Given the description of an element on the screen output the (x, y) to click on. 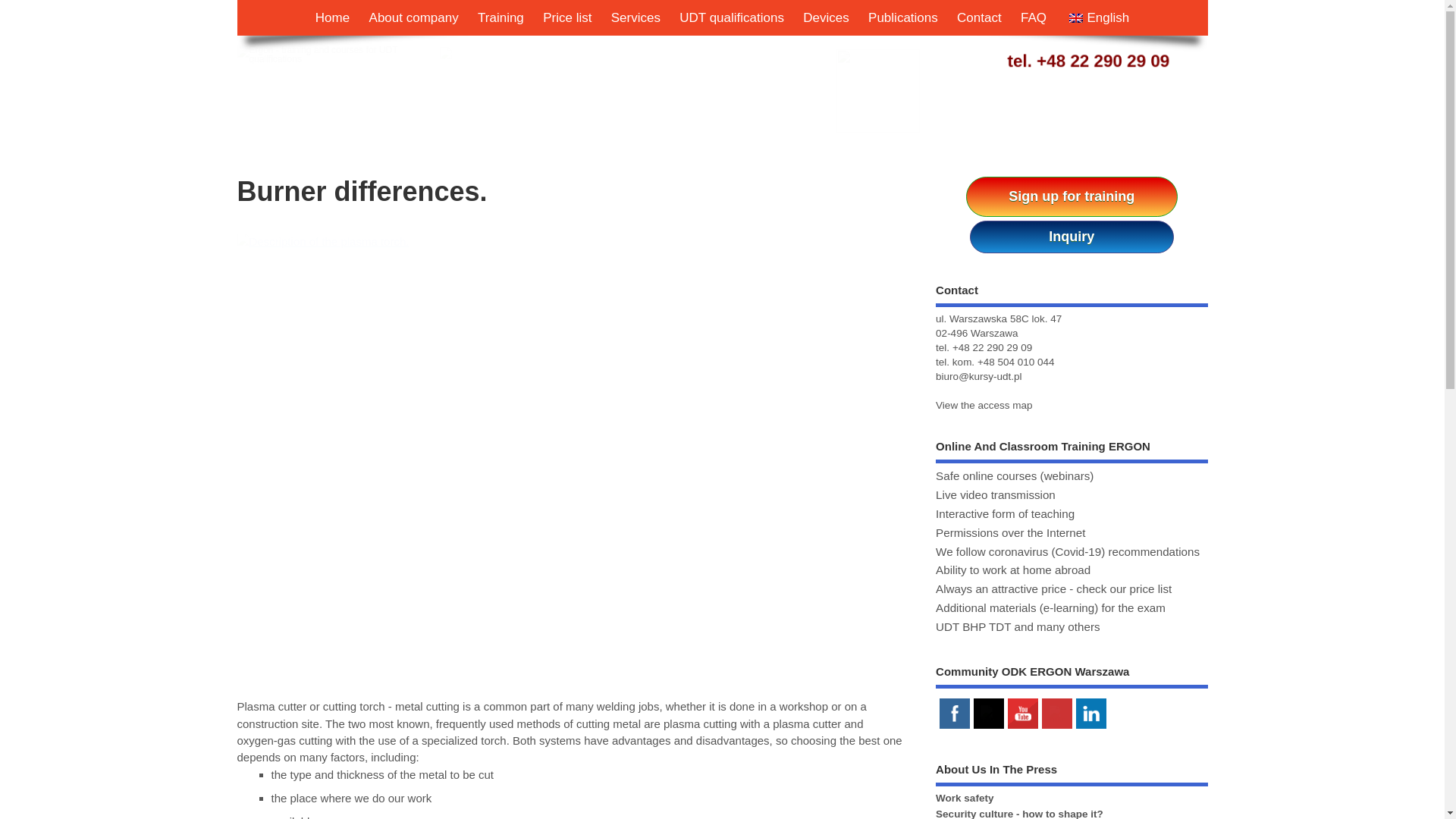
FACEBOOK (954, 713)
About company (414, 18)
Training (500, 18)
Home (332, 18)
